Given the description of an element on the screen output the (x, y) to click on. 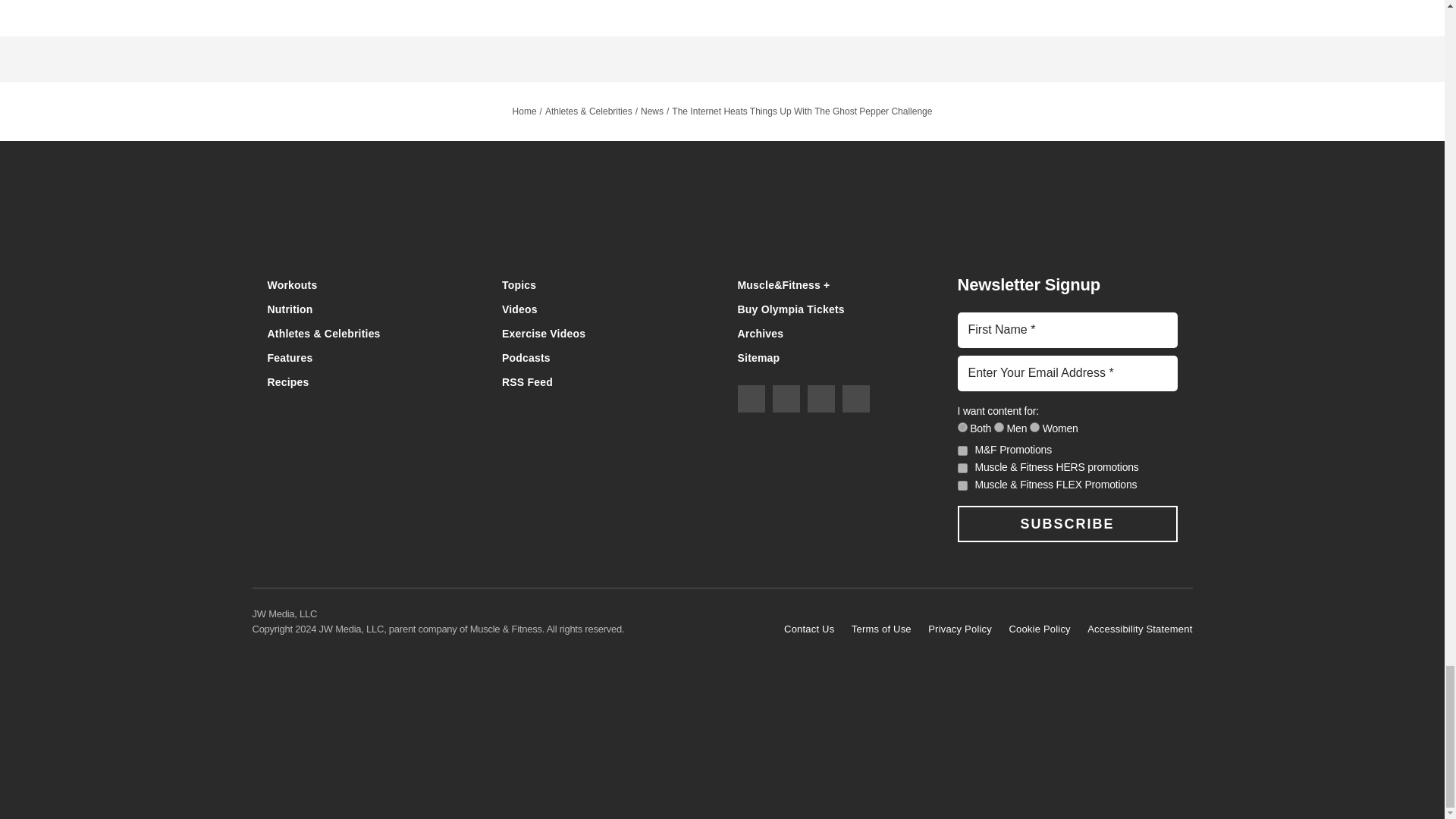
713 (999, 427)
715 (1034, 427)
711 (961, 427)
